Given the description of an element on the screen output the (x, y) to click on. 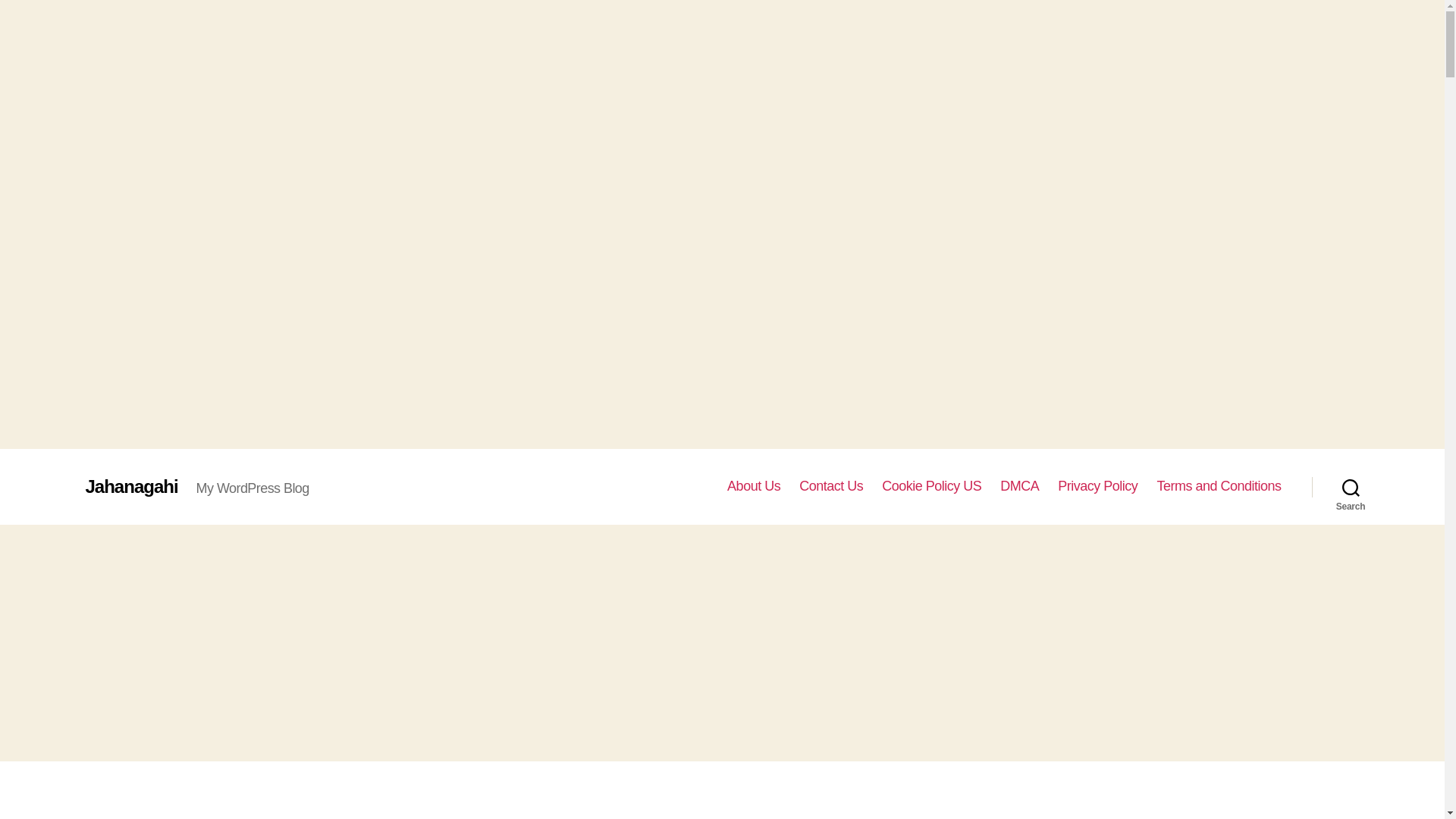
Cookie Policy US (931, 486)
About Us (753, 486)
DMCA (1019, 486)
Search (1350, 486)
Terms and Conditions (1218, 486)
Jahanagahi (130, 486)
Privacy Policy (1097, 486)
Contact Us (831, 486)
